Given the description of an element on the screen output the (x, y) to click on. 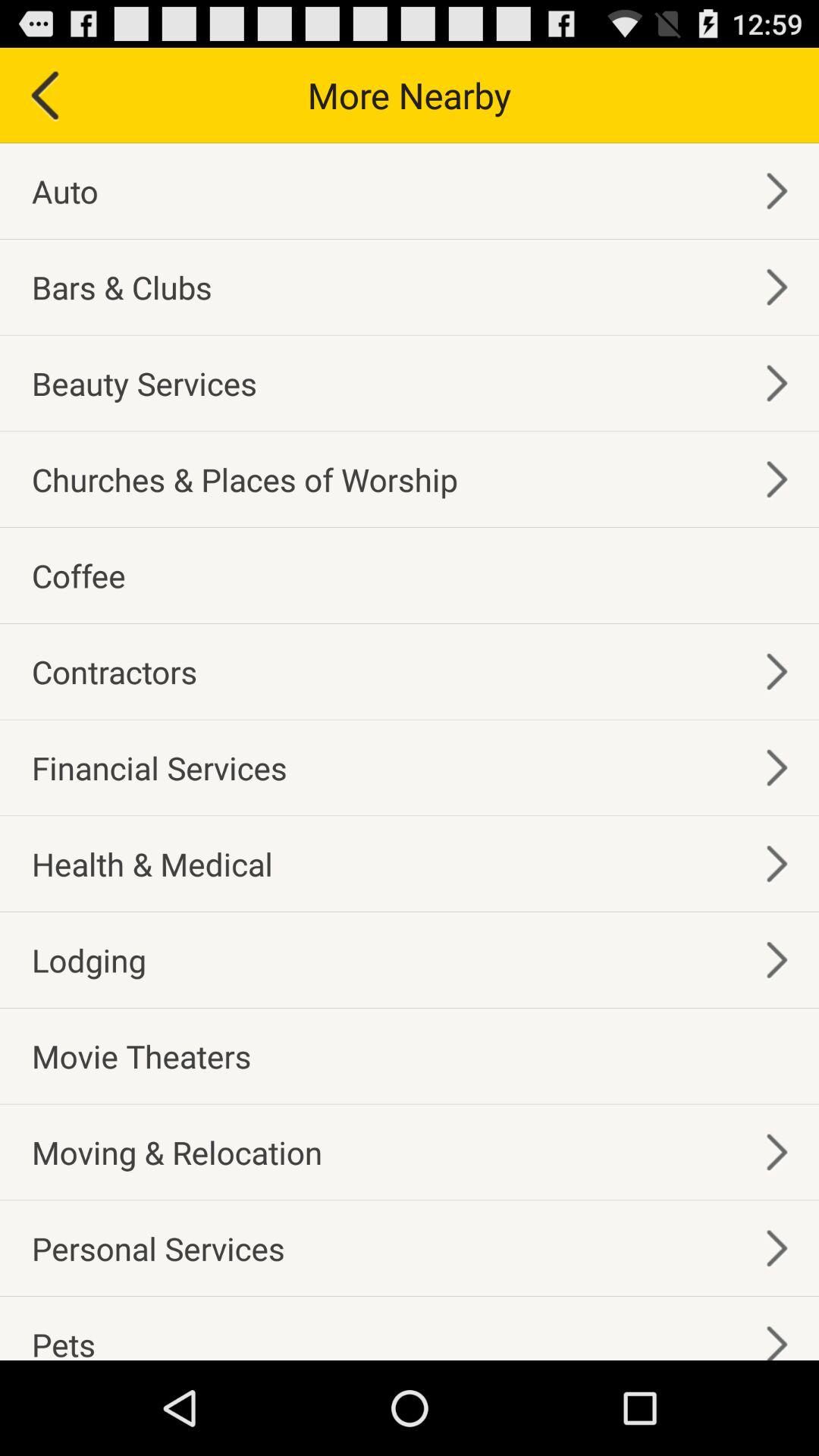
go back (43, 95)
